Given the description of an element on the screen output the (x, y) to click on. 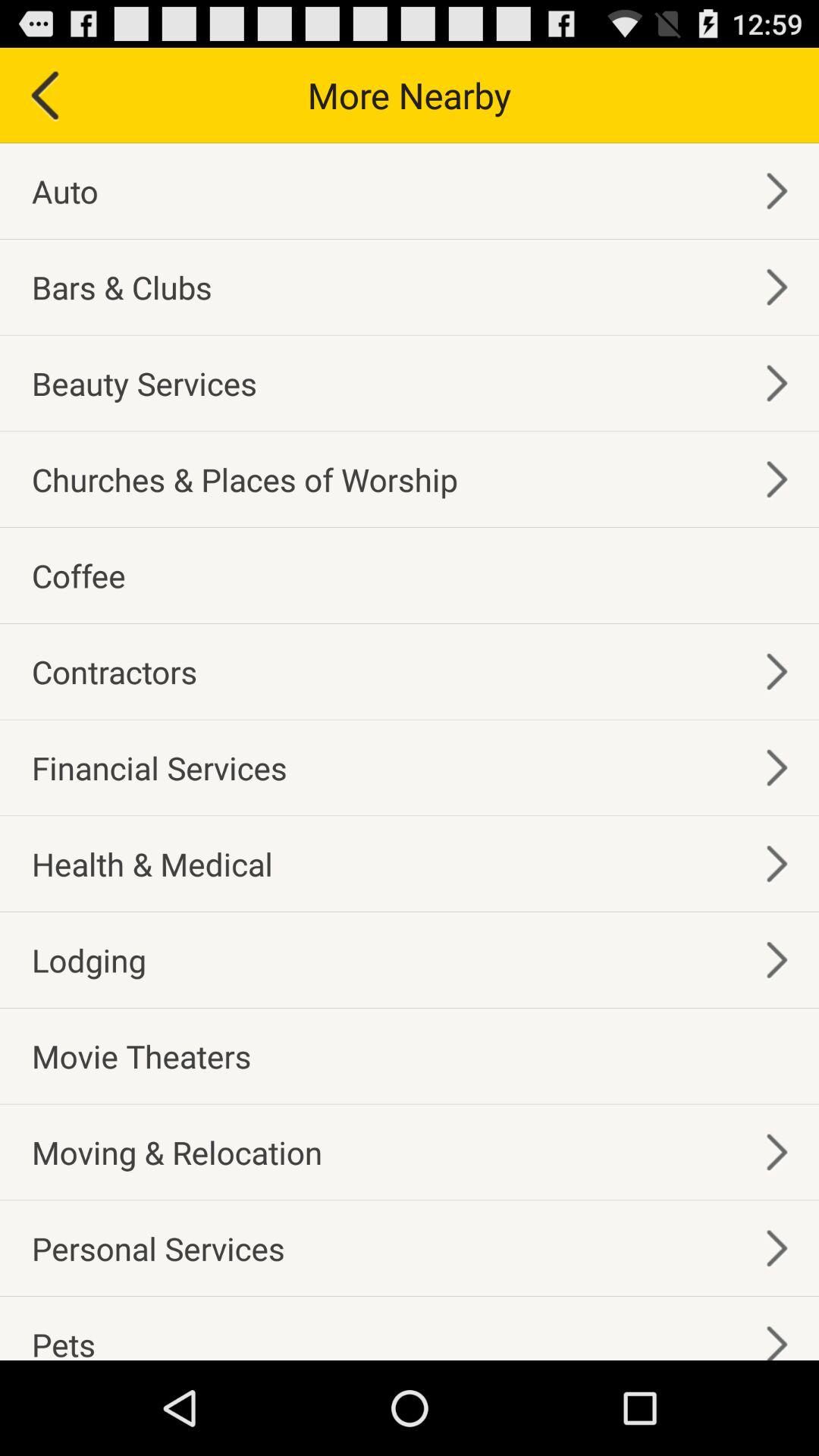
go back (43, 95)
